Given the description of an element on the screen output the (x, y) to click on. 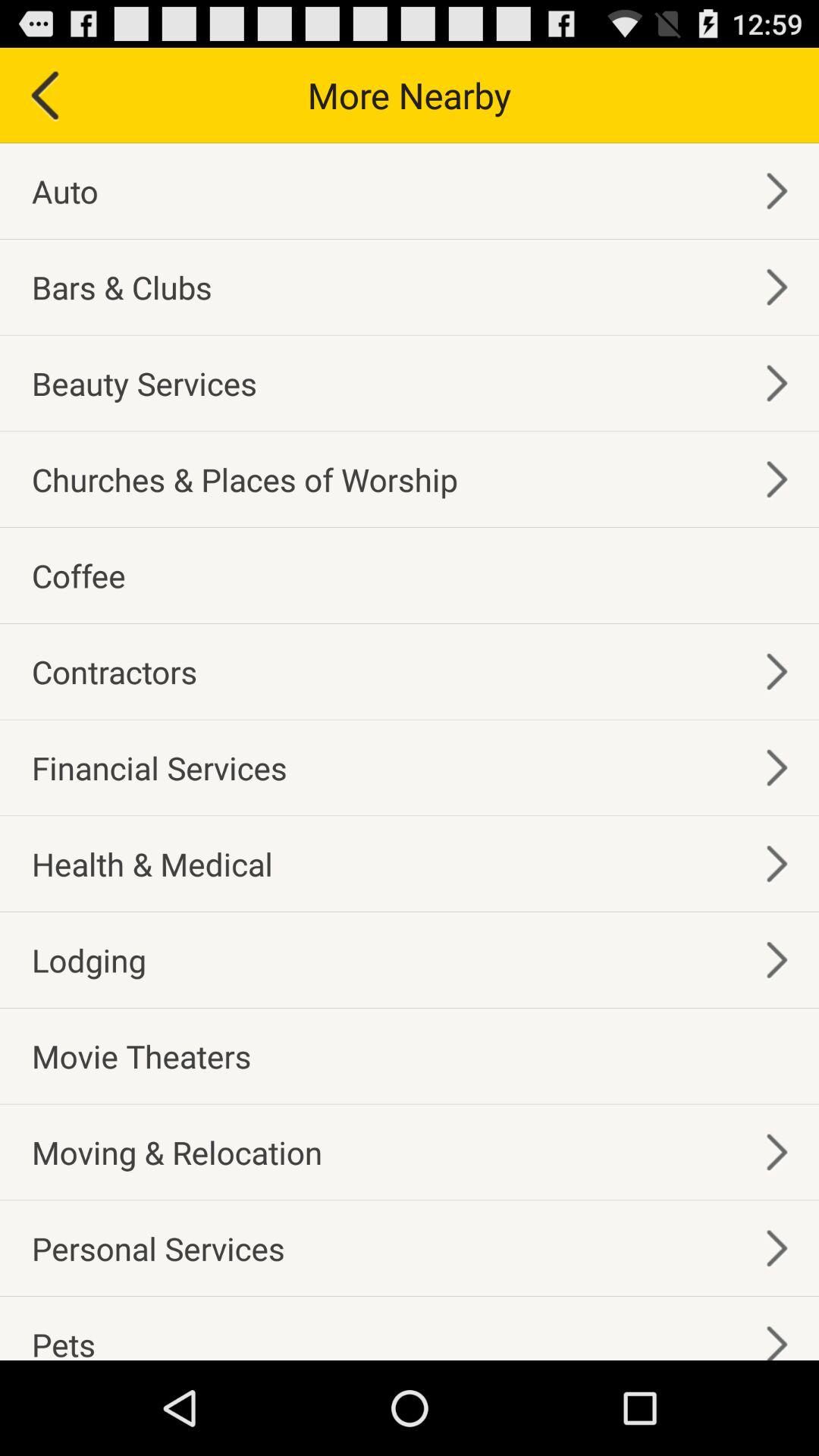
go back (43, 95)
